Given the description of an element on the screen output the (x, y) to click on. 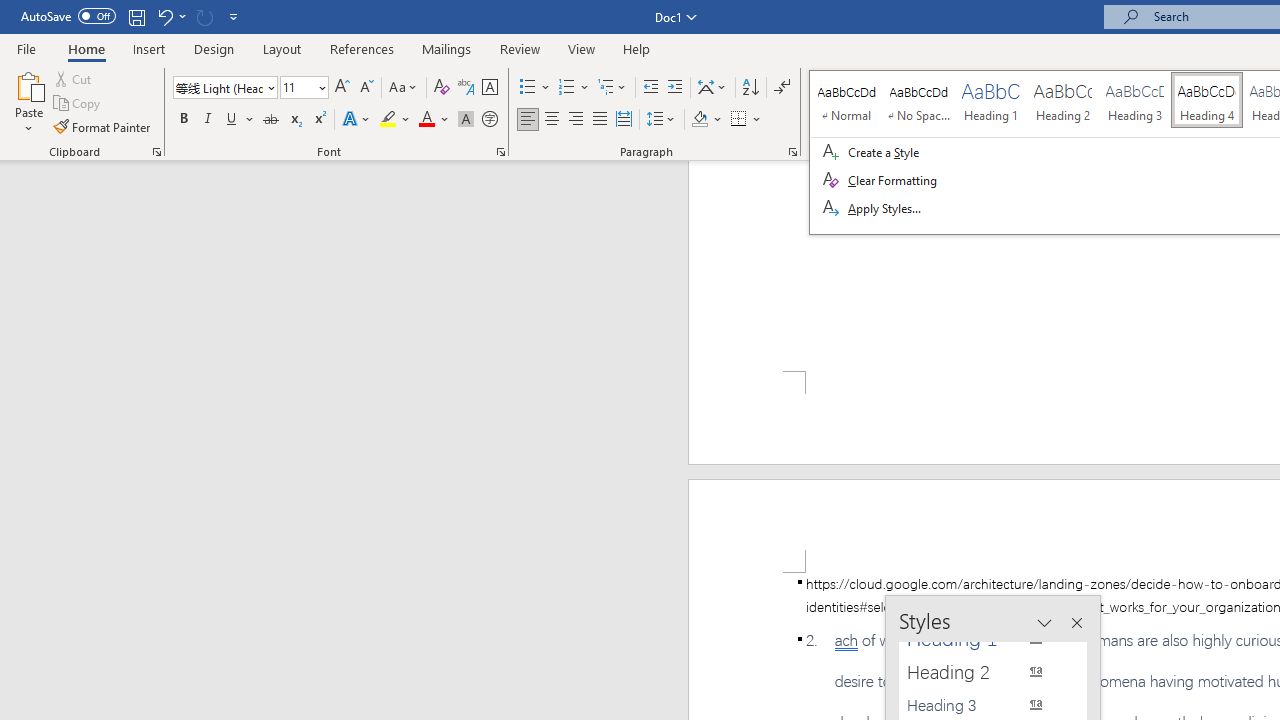
Undo Style (164, 15)
